Given the description of an element on the screen output the (x, y) to click on. 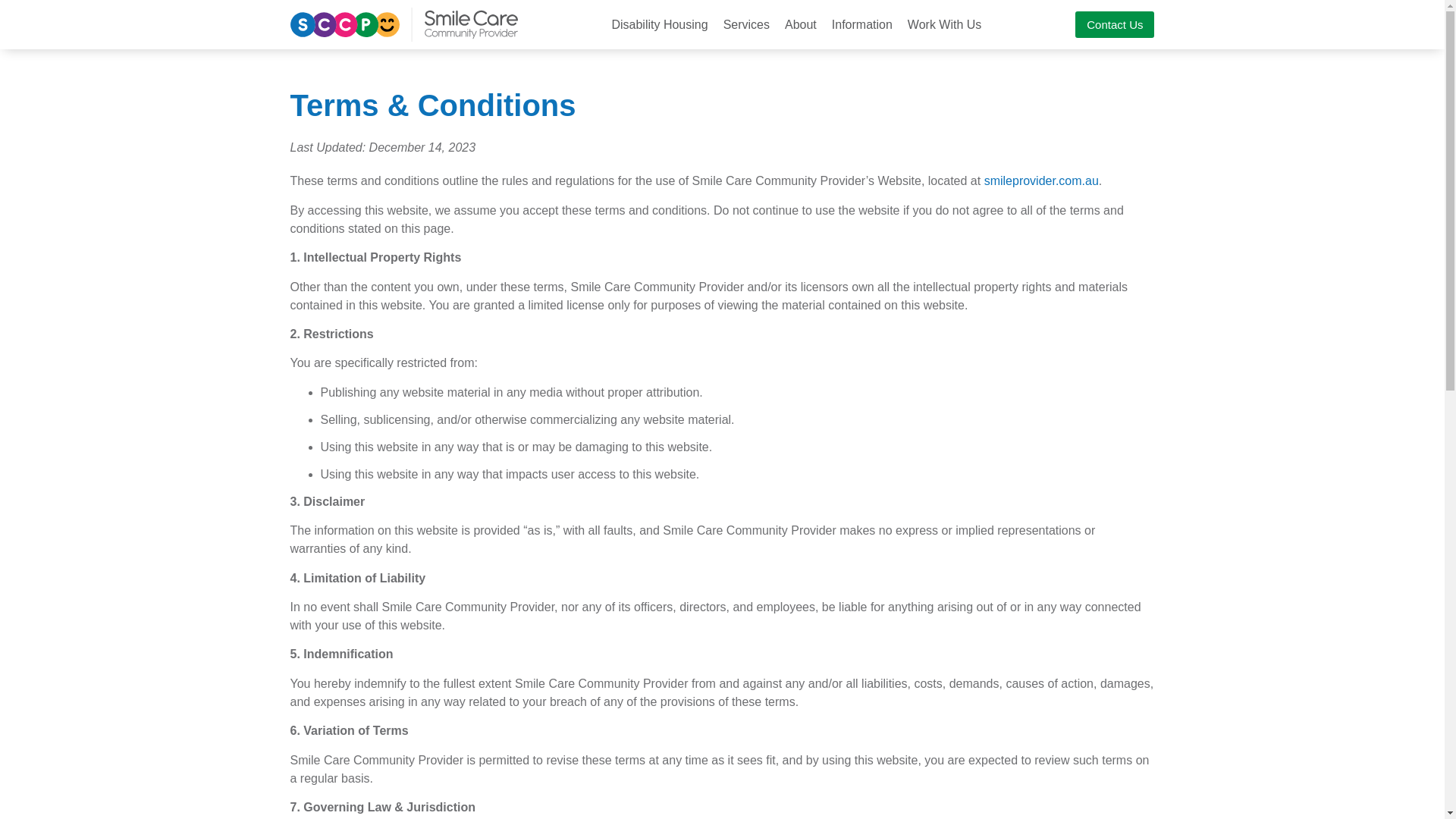
Services (746, 24)
smileprovider.com.au (1041, 180)
Contact Us (1114, 24)
Work With Us (944, 24)
About (800, 24)
Information (861, 24)
Disability Housing (659, 24)
